Given the description of an element on the screen output the (x, y) to click on. 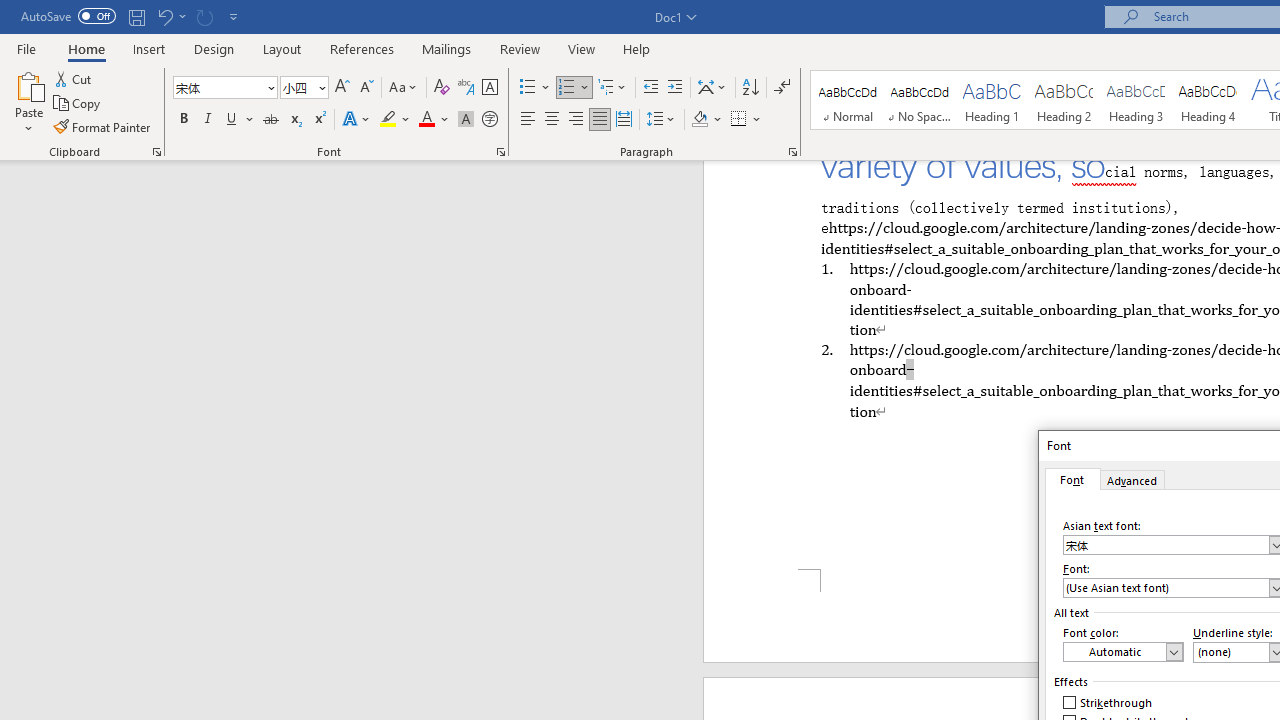
Font Color Automatic (426, 119)
File Tab (26, 48)
Center (552, 119)
Numbering (573, 87)
Numbering (566, 87)
Insert (149, 48)
Borders (739, 119)
Text Highlight Color Yellow (388, 119)
Strikethrough (270, 119)
Character Border (489, 87)
Multilevel List (613, 87)
Mailings (447, 48)
Align Right (575, 119)
